Given the description of an element on the screen output the (x, y) to click on. 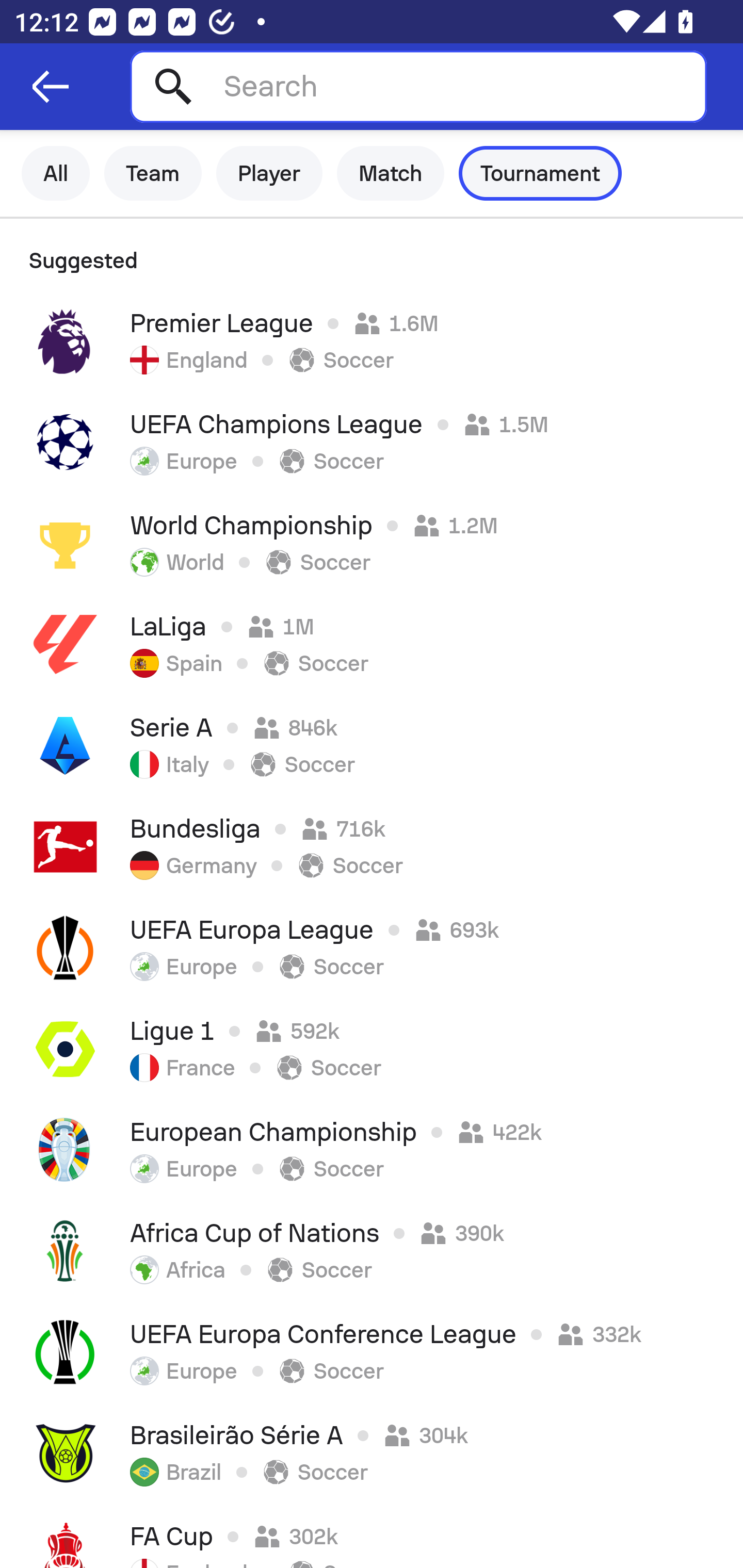
Navigate up (50, 86)
Search (418, 86)
All (55, 172)
Team (152, 172)
Player (268, 172)
Match (390, 172)
Tournament (540, 172)
Suggested (371, 254)
Premier League 1.6M England Soccer (371, 341)
UEFA Champions League 1.5M Europe Soccer (371, 442)
World Championship 1.2M World Soccer (371, 543)
LaLiga 1M Spain Soccer (371, 644)
Serie A 846k Italy Soccer (371, 745)
Bundesliga 716k Germany Soccer (371, 846)
UEFA Europa League 693k Europe Soccer (371, 947)
Ligue 1 592k France Soccer (371, 1048)
European Championship 422k Europe Soccer (371, 1150)
Africa Cup of Nations 390k Africa Soccer (371, 1251)
UEFA Europa Conference League 332k Europe Soccer (371, 1352)
Brasileirão Série A 304k Brazil Soccer (371, 1453)
